Given the description of an element on the screen output the (x, y) to click on. 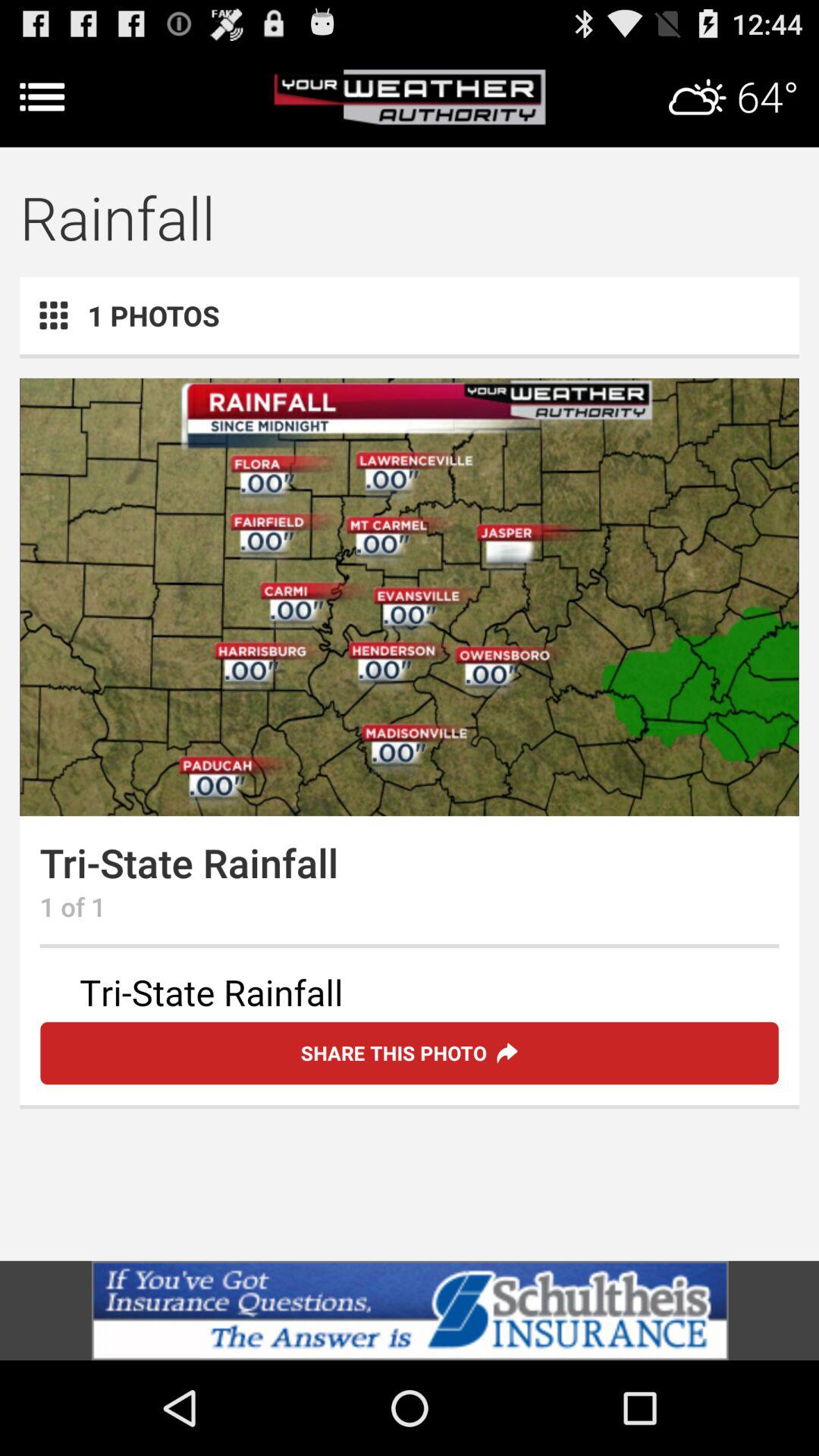
the element shows tri-state predicted rainfall (409, 994)
